Given the description of an element on the screen output the (x, y) to click on. 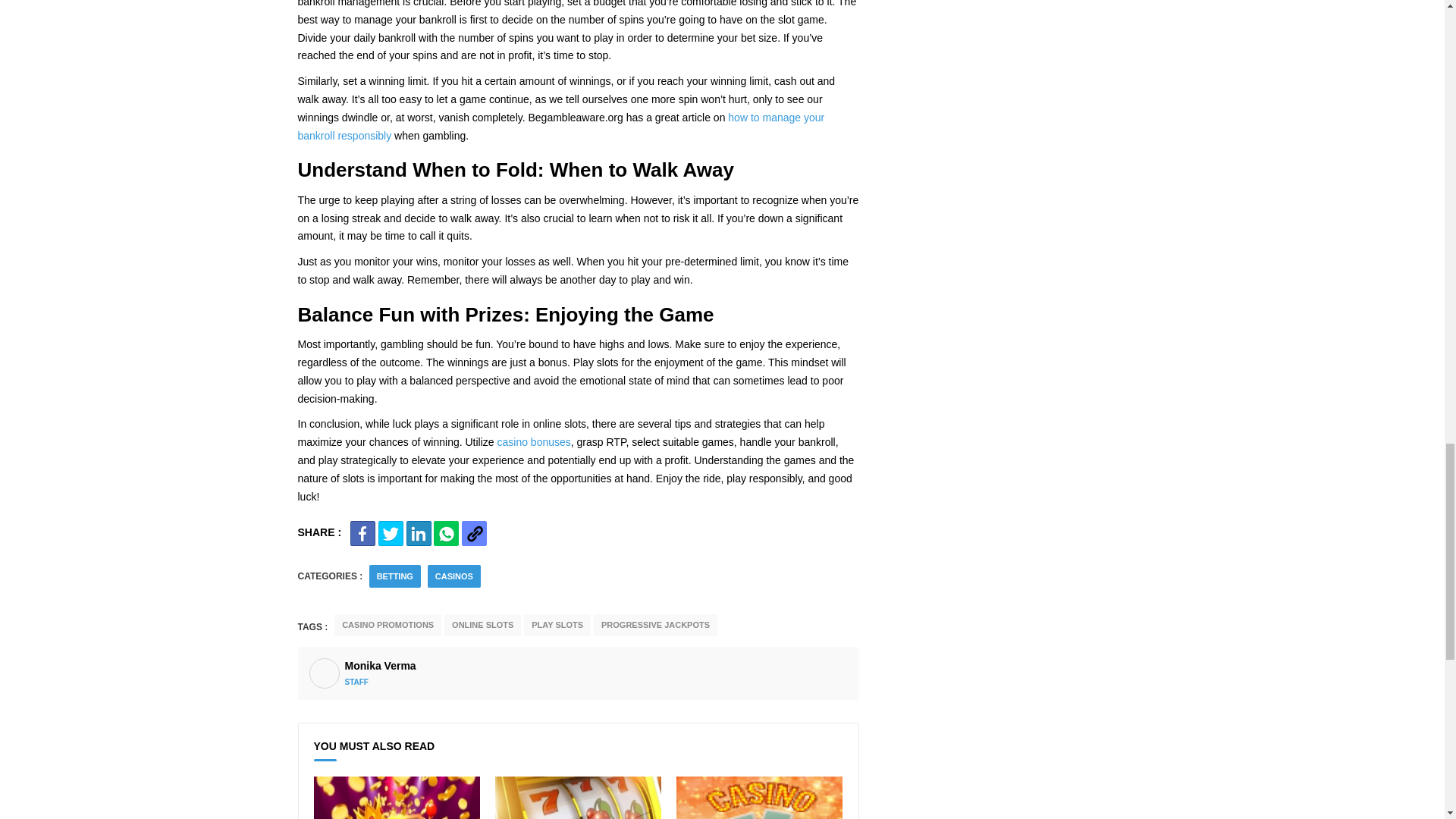
casino bonuses (533, 441)
Share on Whatsapp (445, 533)
Copy Link (473, 533)
Share on Facebook (362, 533)
Share on Linkedin (418, 533)
CASINOS (454, 575)
BETTING (395, 575)
Share on Twitter (390, 533)
how to manage your bankroll responsibly (560, 126)
